Given the description of an element on the screen output the (x, y) to click on. 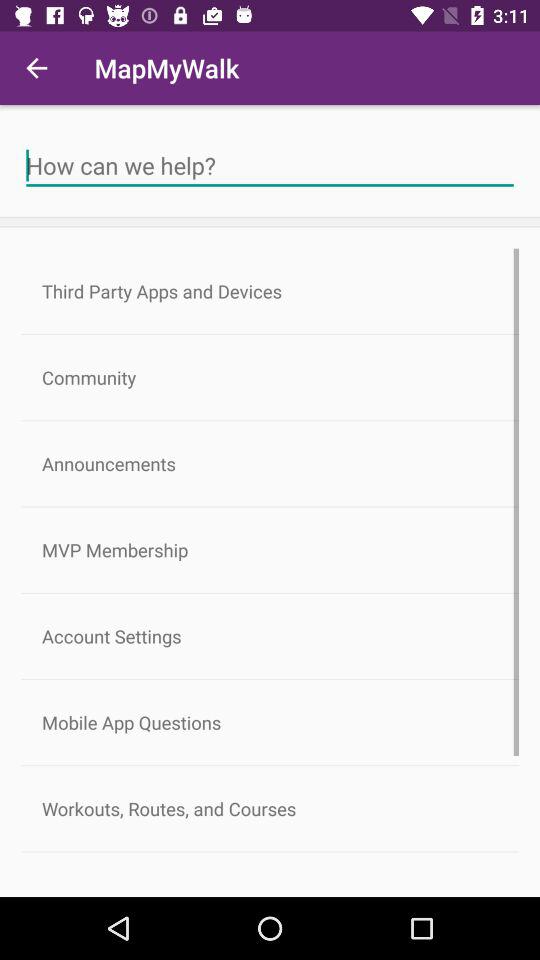
press icon below the account settings item (269, 722)
